Given the description of an element on the screen output the (x, y) to click on. 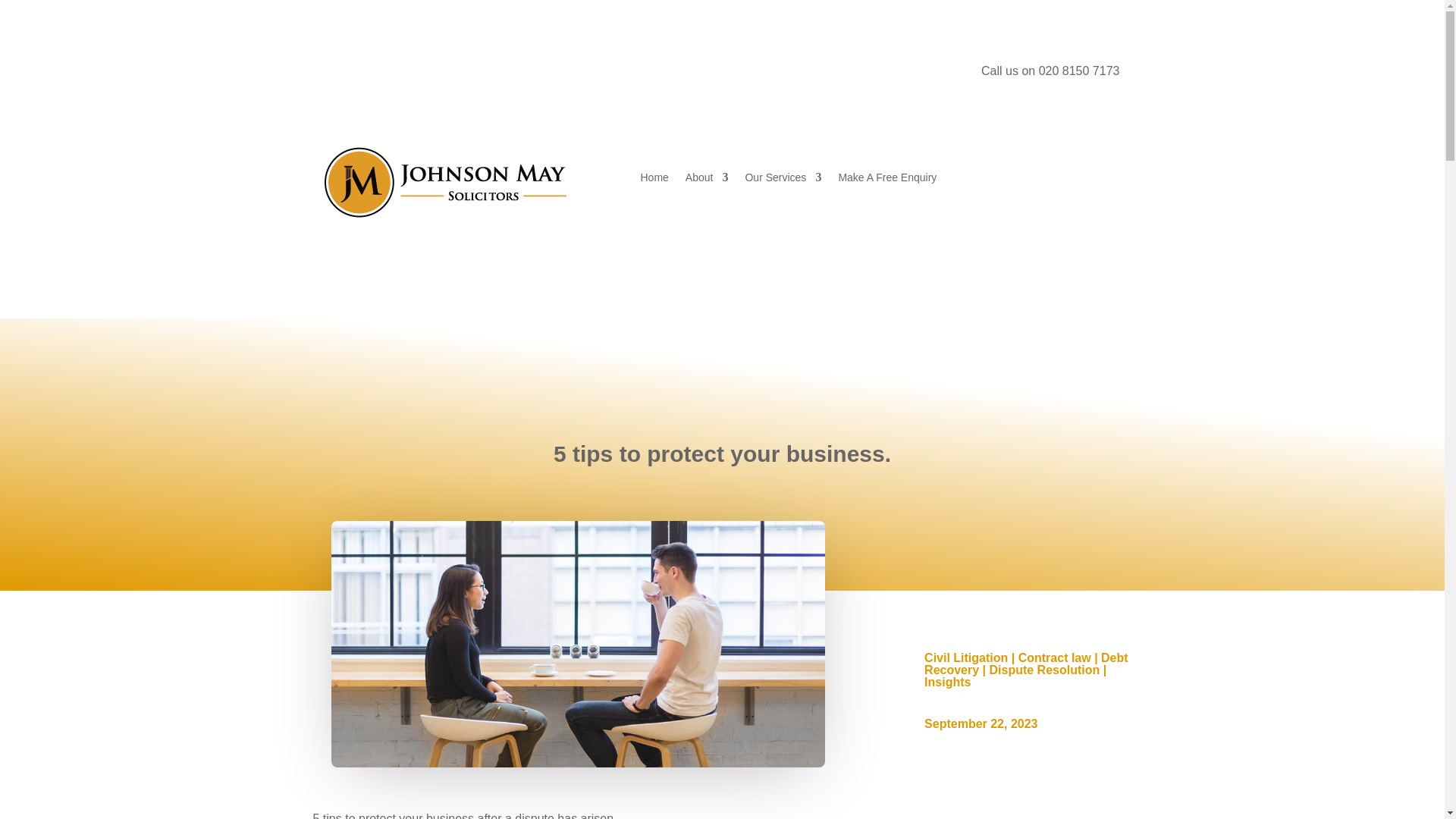
Debt Recovery (1026, 663)
Civil Litigation (965, 657)
Talking to resolve a dispute. (578, 644)
Contract law (1053, 657)
